Given the description of an element on the screen output the (x, y) to click on. 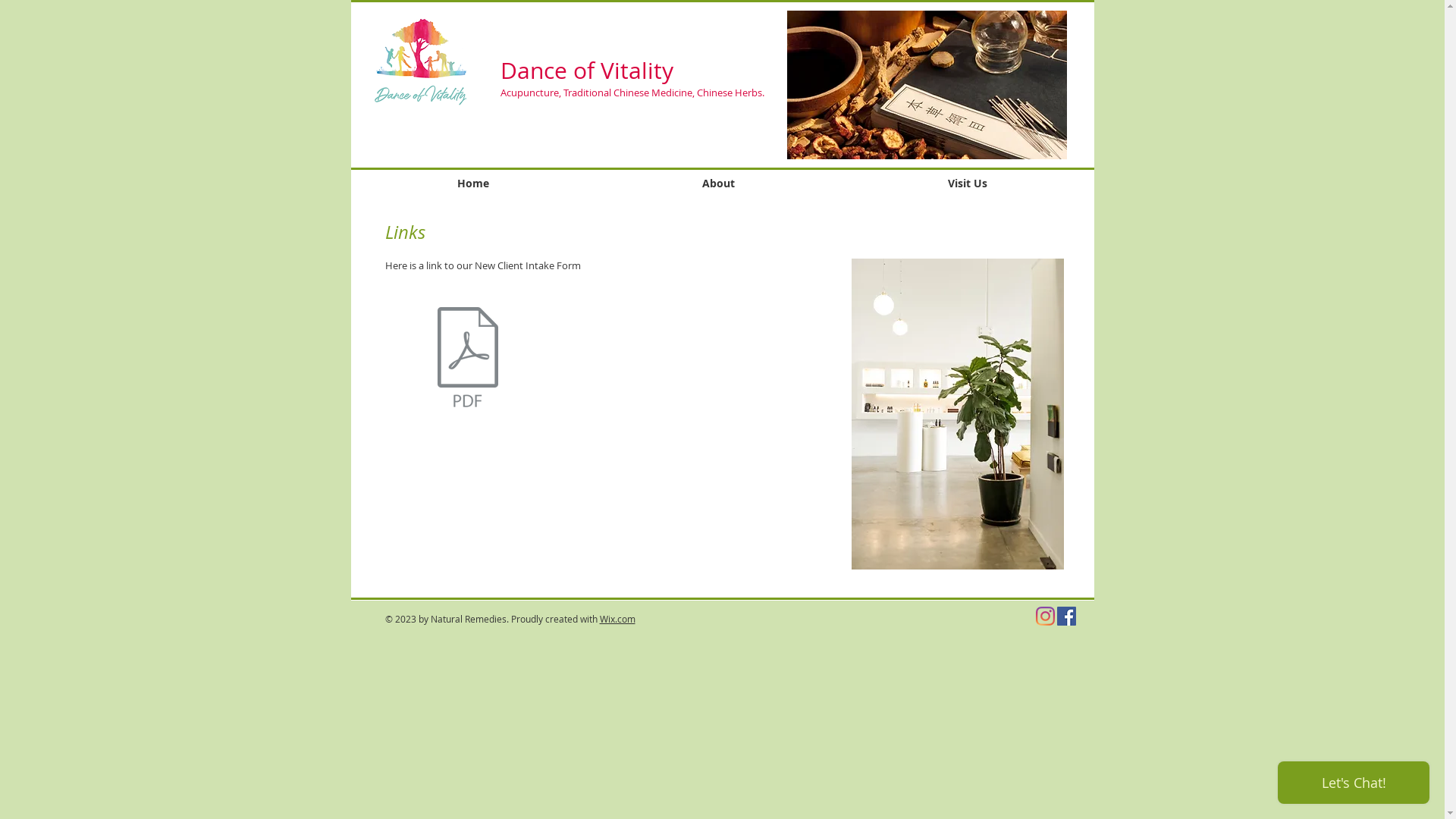
Dance of Vitality Element type: text (586, 70)
Visit Us Element type: text (967, 183)
Wix.com Element type: text (616, 618)
New Client Intake Form 2020.pdf Element type: hover (467, 359)
Home Element type: text (472, 183)
pebbles 2 Element type: hover (956, 413)
About Element type: text (718, 183)
Acupuncture, Traditional Chinese Medicine, Chinese Herbs. Element type: text (632, 92)
